Given the description of an element on the screen output the (x, y) to click on. 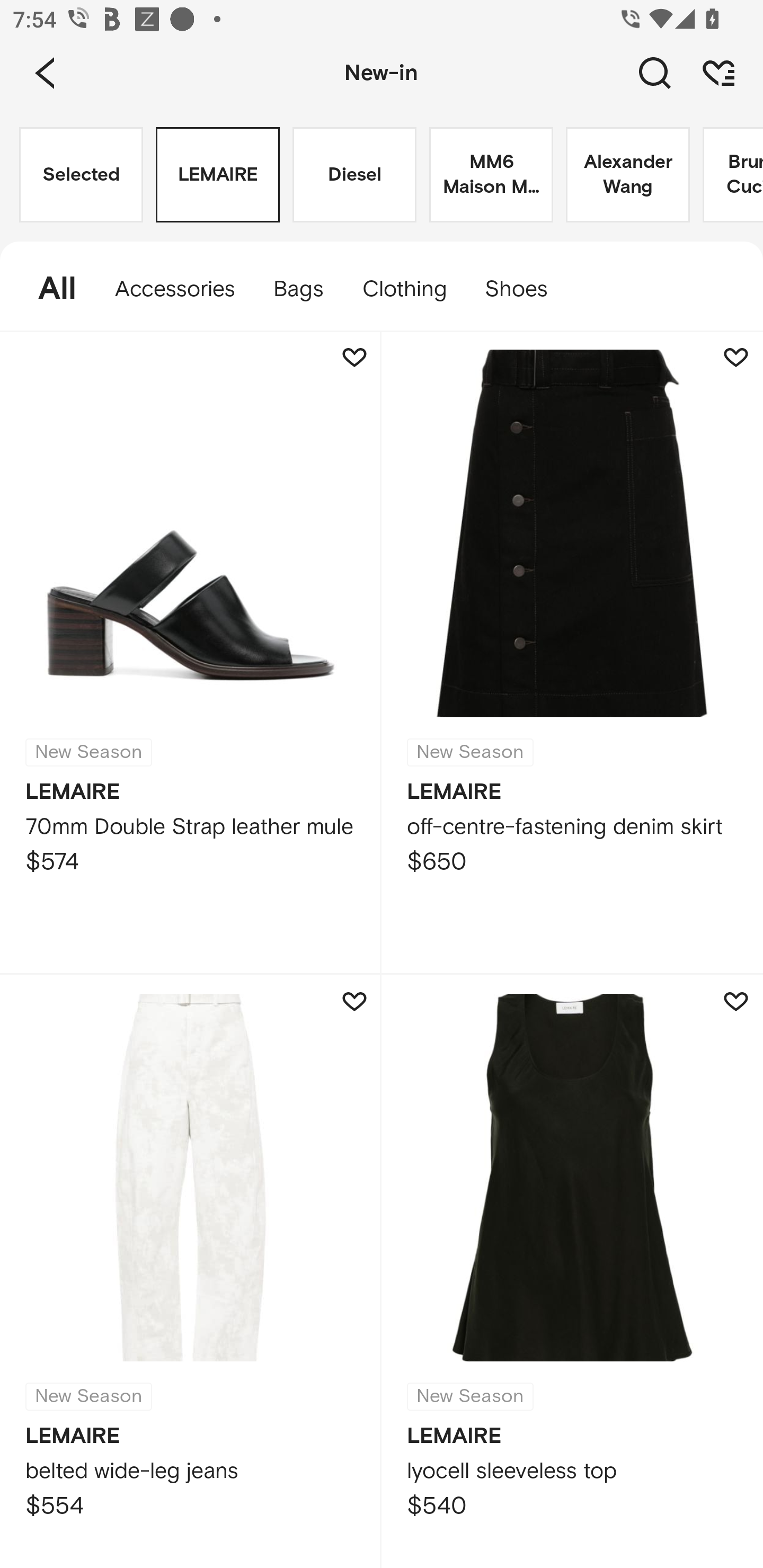
Selected (81, 174)
LEMAIRE (217, 174)
Diesel (354, 174)
MM6 Maison Margiela (490, 174)
Alexander Wang (627, 174)
All (47, 288)
Accessories (174, 288)
Bags (298, 288)
Clothing (403, 288)
Shoes (525, 288)
New Season LEMAIRE belted wide-leg jeans $554 (190, 1271)
New Season LEMAIRE lyocell sleeveless top $540 (572, 1271)
